Given the description of an element on the screen output the (x, y) to click on. 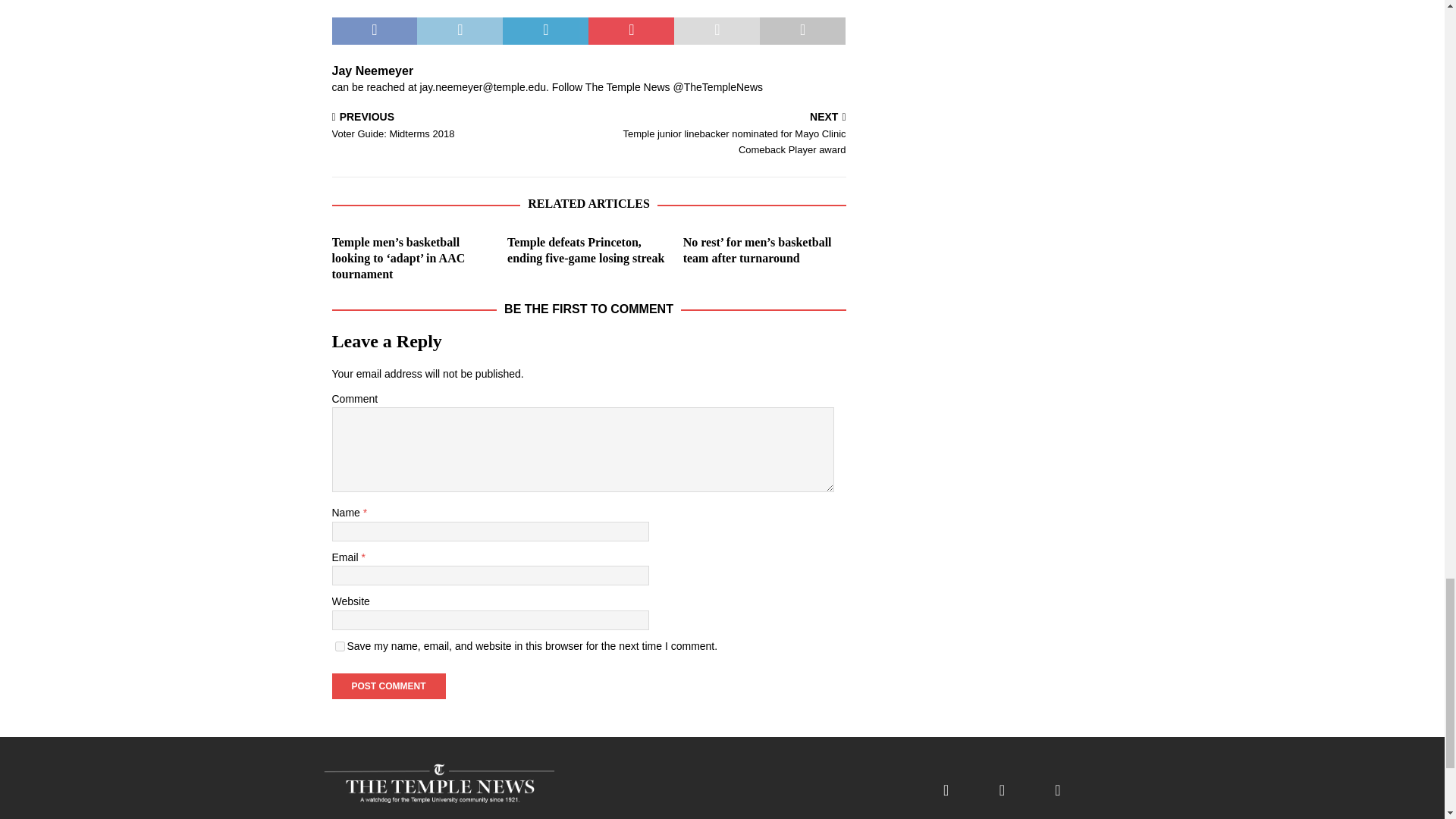
Post Comment (388, 686)
yes (339, 646)
